Given the description of an element on the screen output the (x, y) to click on. 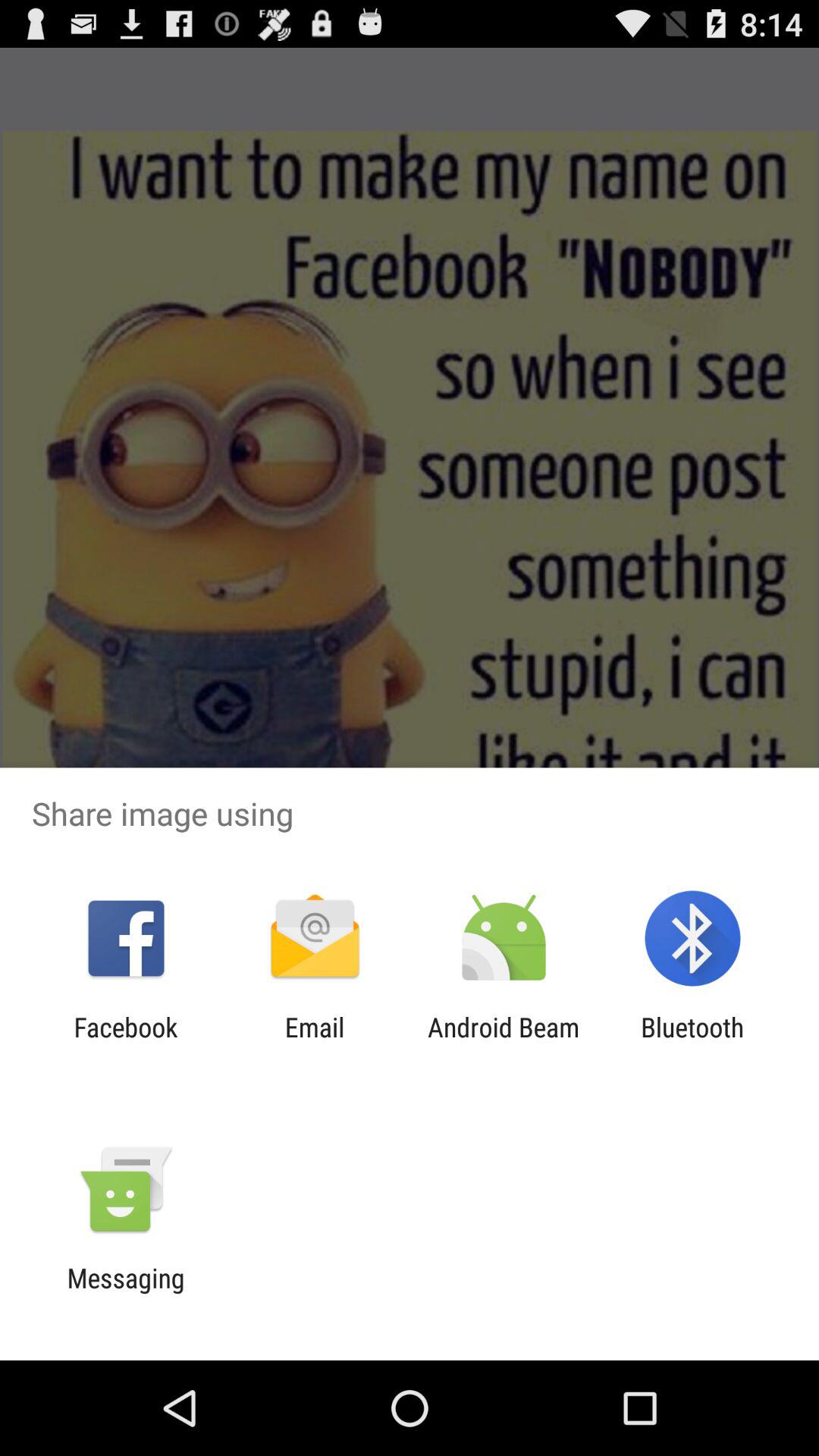
swipe until email (314, 1042)
